Given the description of an element on the screen output the (x, y) to click on. 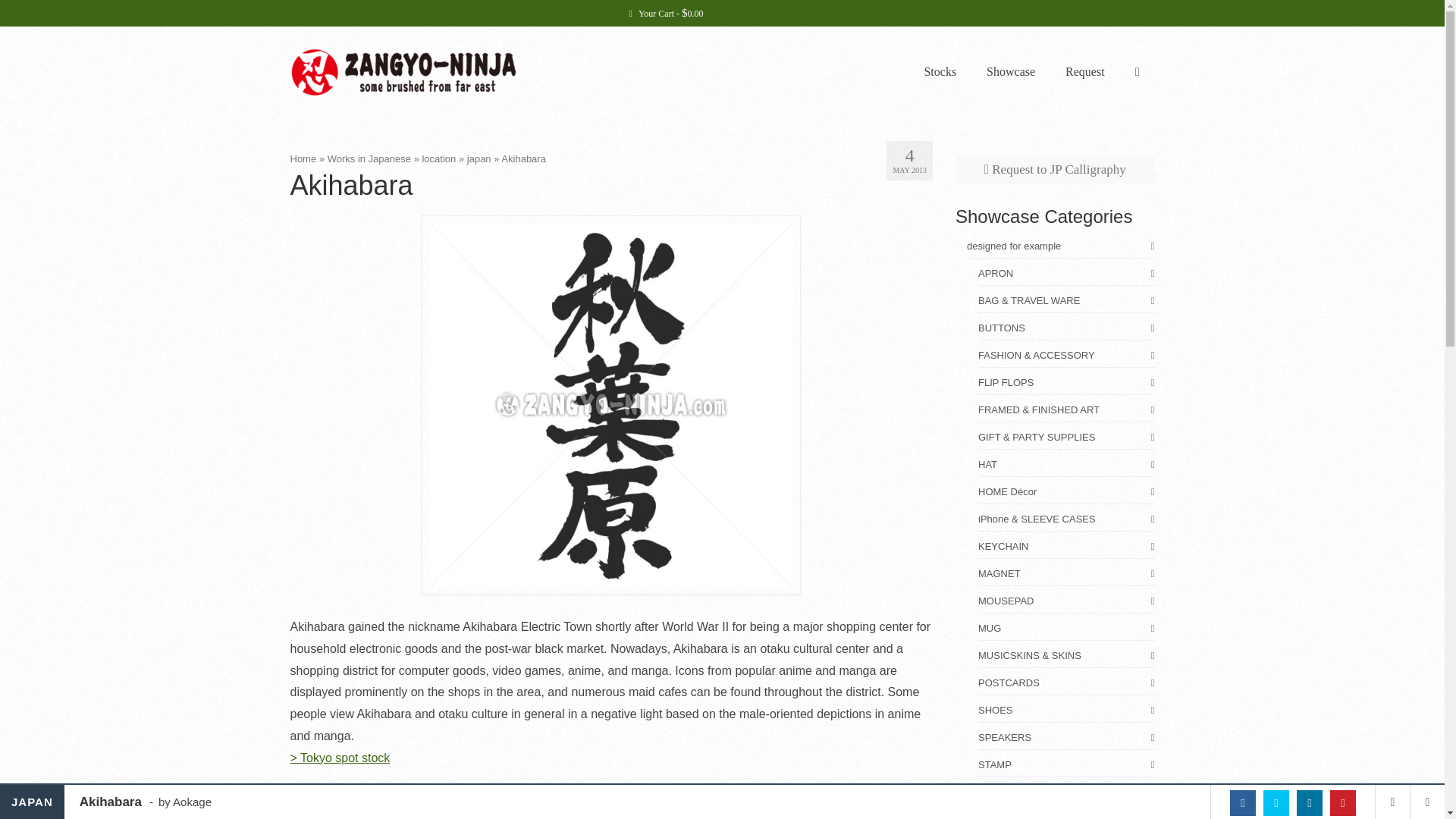
Zangyo-Ninja (425, 71)
View your shopping cart (665, 13)
